Given the description of an element on the screen output the (x, y) to click on. 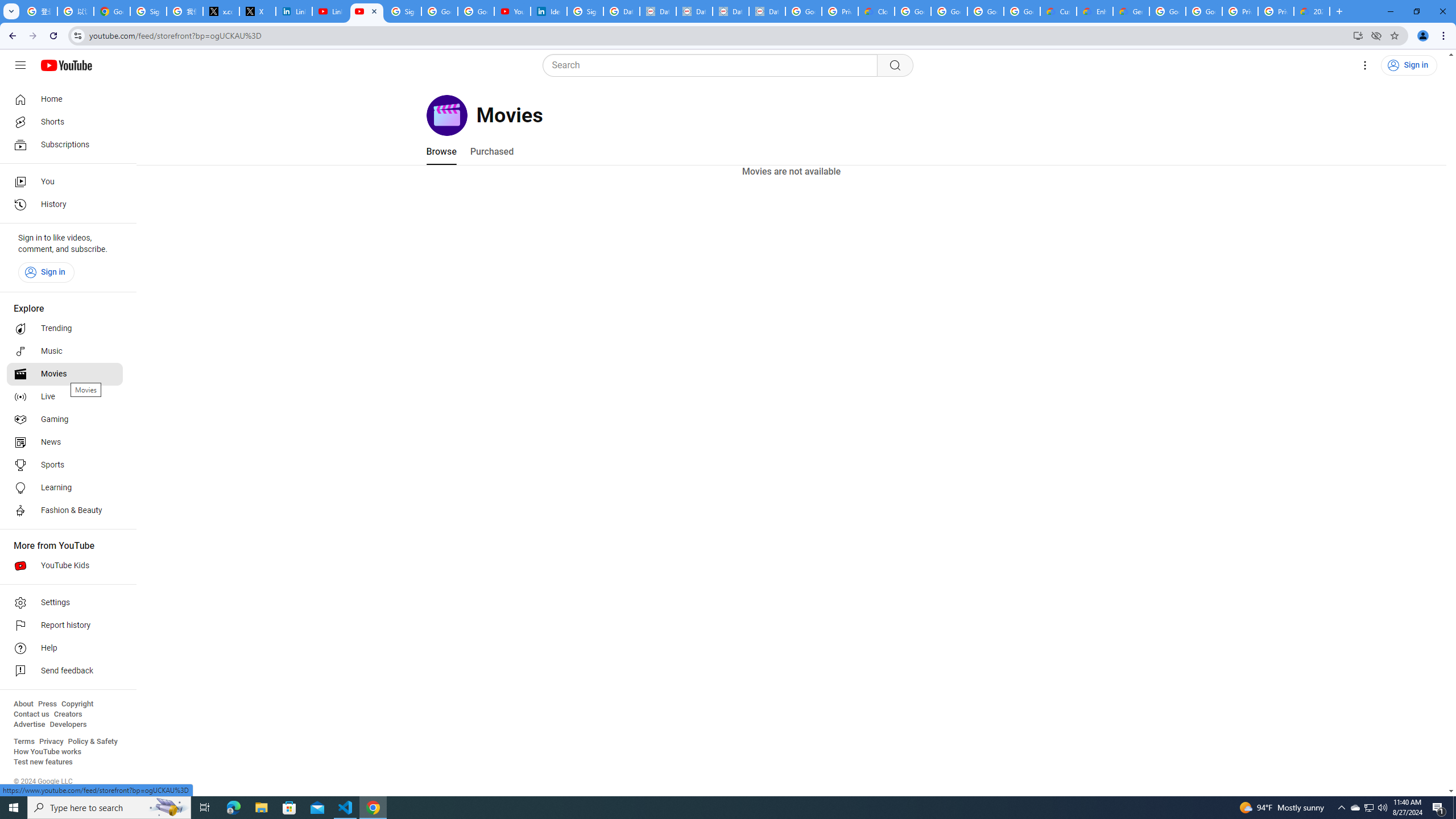
Google Workspace - Specific Terms (1021, 11)
Developers (68, 724)
Policy & Safety (91, 741)
Shorts (64, 121)
Home (64, 99)
Gaming (64, 419)
Google Workspace - Specific Terms (985, 11)
Sign in - Google Accounts (403, 11)
Trending (64, 328)
X (257, 11)
